Given the description of an element on the screen output the (x, y) to click on. 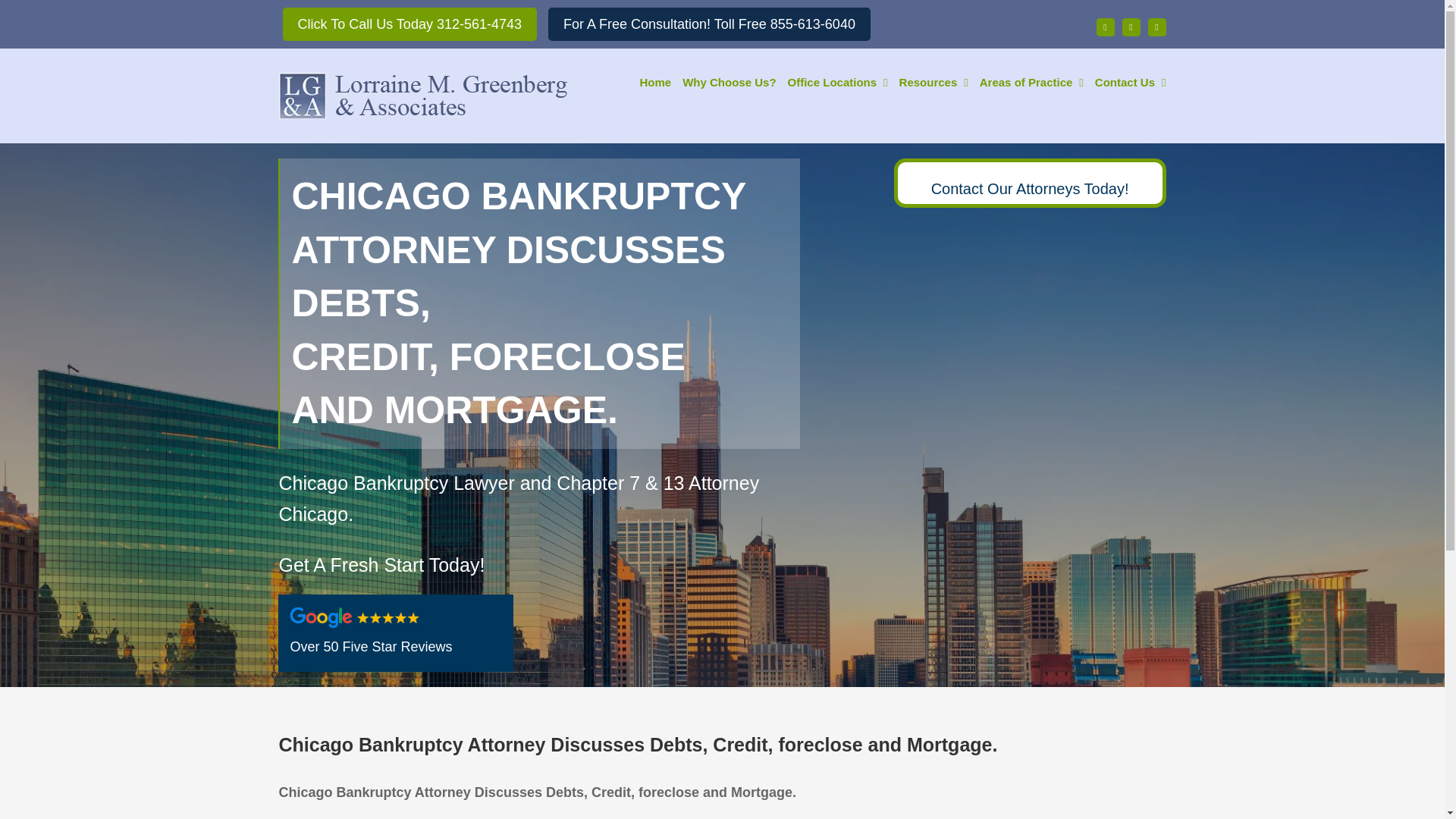
Facebook (1105, 27)
LinkedIn (1157, 27)
Facebook (1105, 27)
Resources (933, 81)
LinkedIn (1157, 27)
Click To Call Us Today 312-588-3330 (409, 23)
Twitter (1131, 27)
For A Free Consultation! Toll Free 800-519-0090 (709, 23)
Office Locations (837, 81)
Areas of Practice (1031, 81)
Twitter (1131, 27)
Why Choose Us? (729, 81)
